Given the description of an element on the screen output the (x, y) to click on. 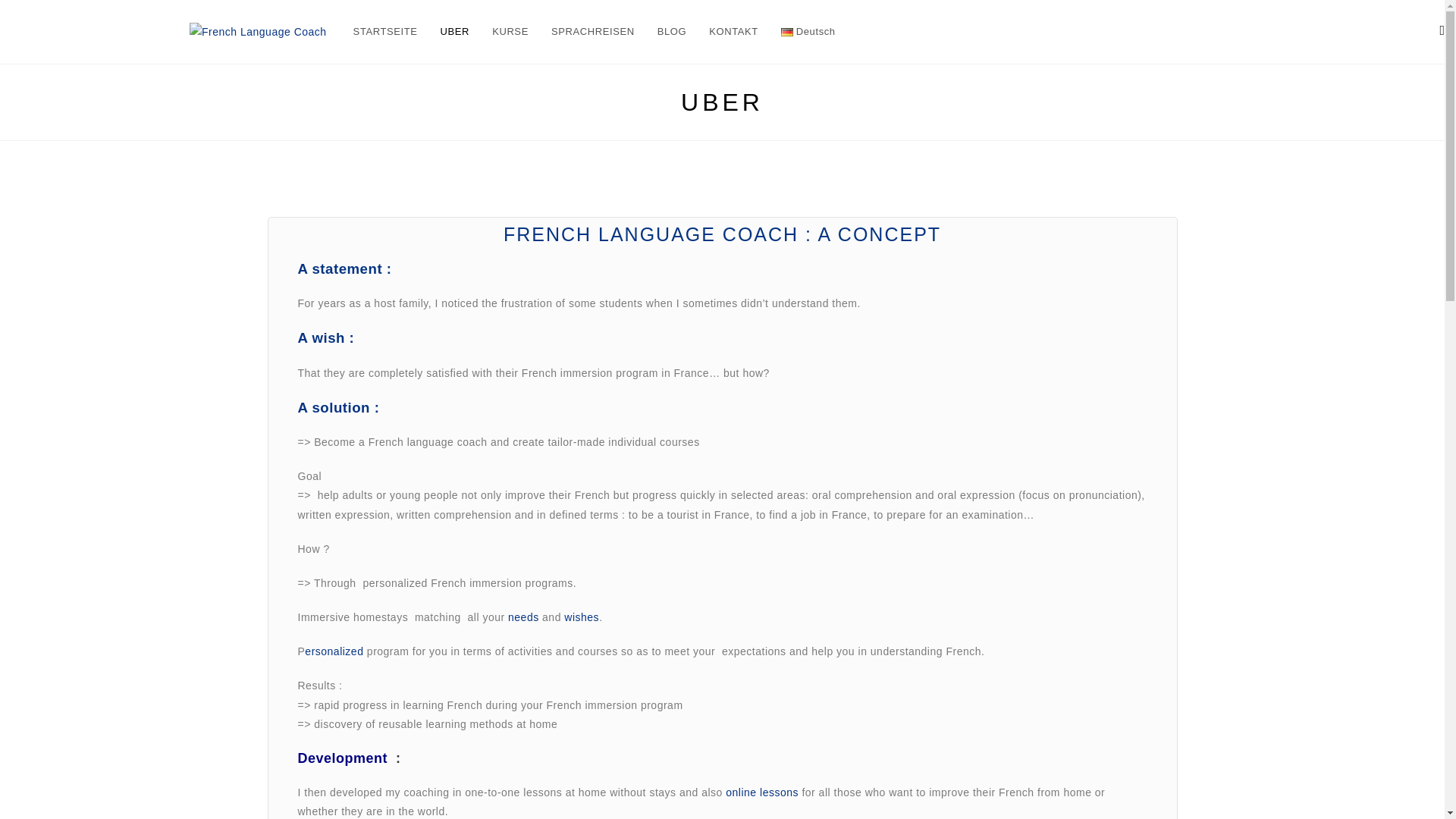
KONTAKT (733, 31)
STARTSEITE (385, 31)
KURSE (510, 31)
Deutsch (808, 31)
online lessons (761, 792)
BLOG (672, 31)
UBER (455, 31)
SPRACHREISEN (593, 31)
